Given the description of an element on the screen output the (x, y) to click on. 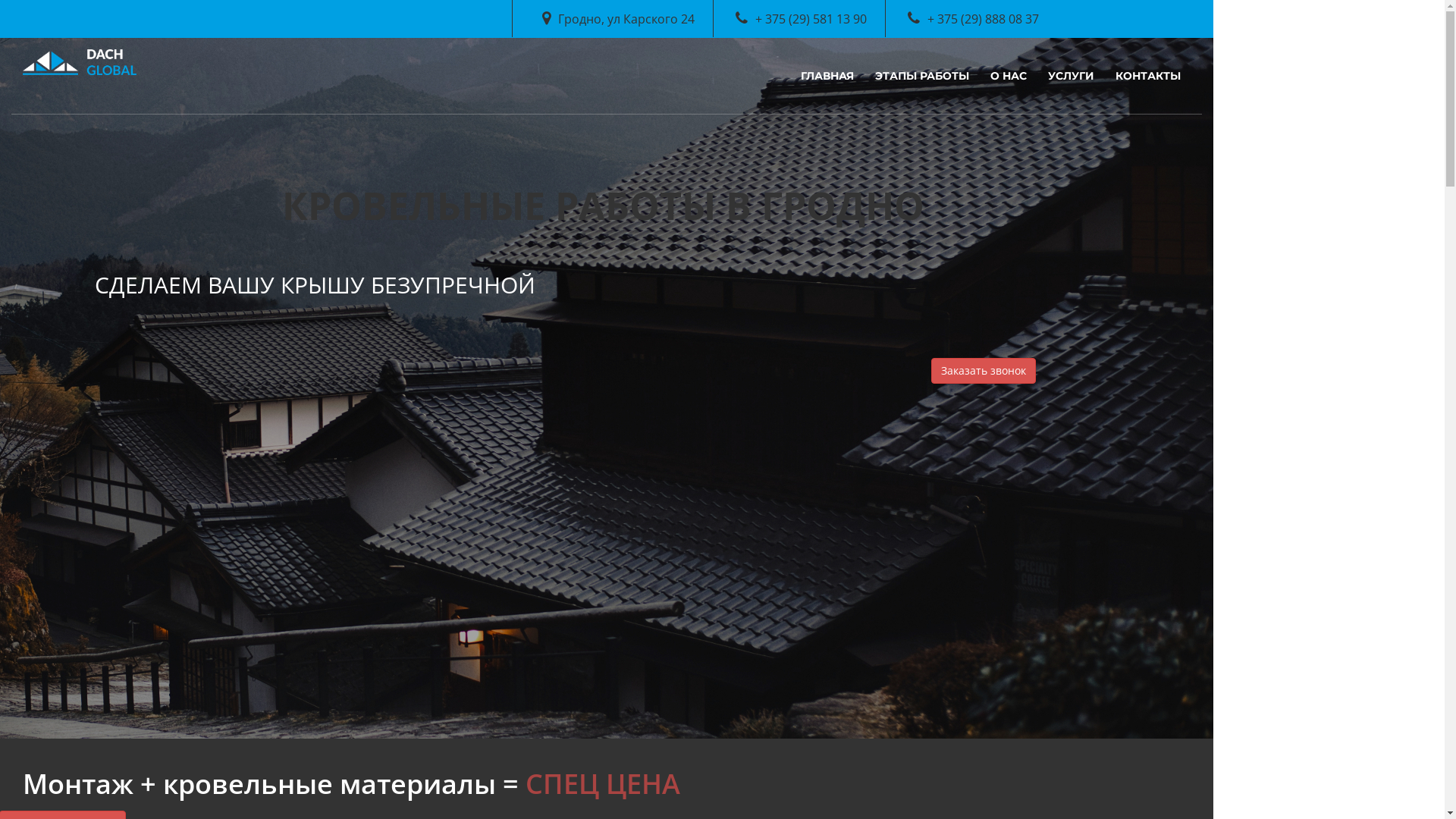
+ 375 (29) 581 13 90 Element type: text (800, 18)
+ 375 (29) 888 08 37 Element type: text (972, 18)
